Given the description of an element on the screen output the (x, y) to click on. 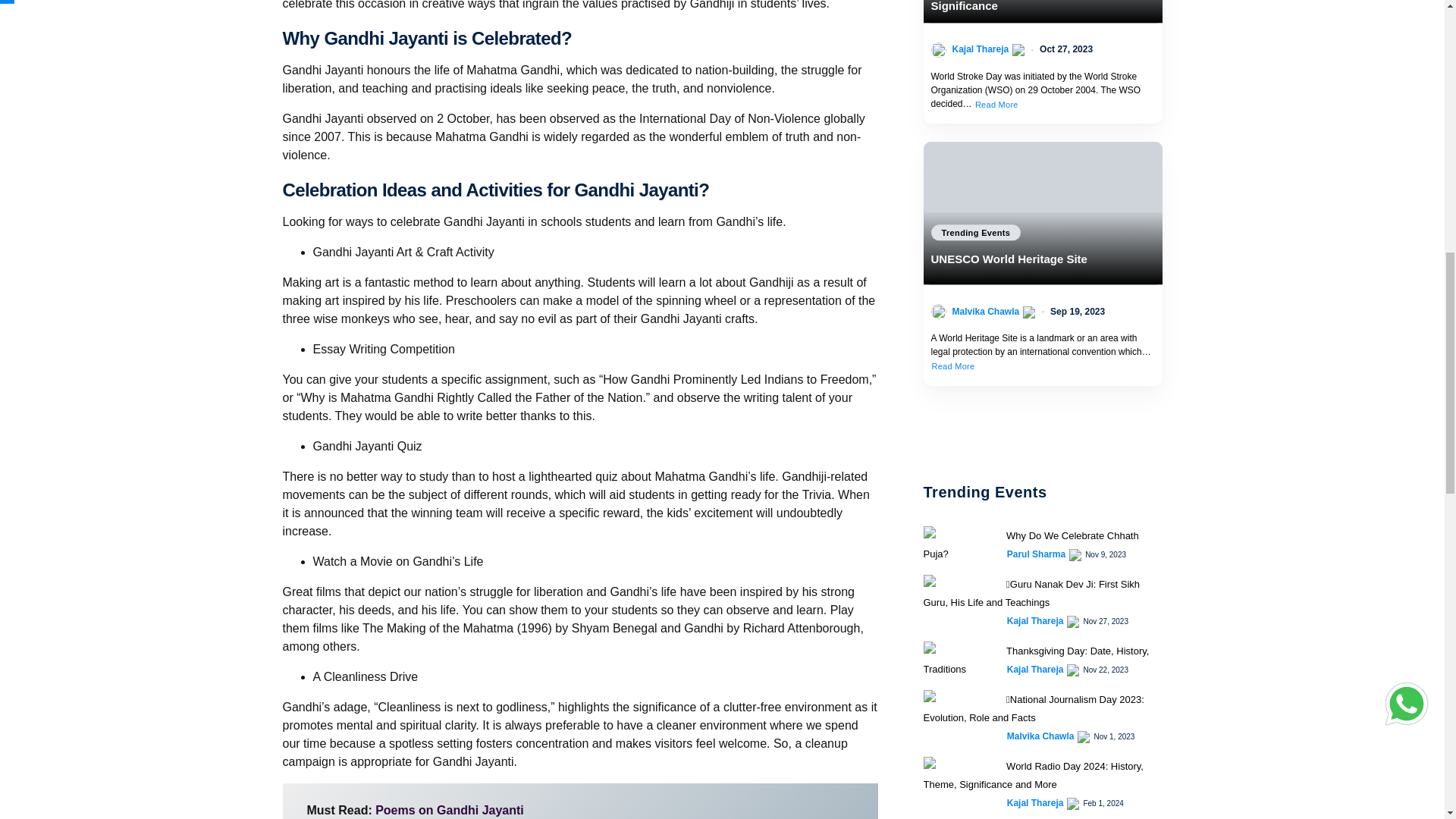
View all posts by Sanya Chhabra (984, 62)
View all posts by Kajal Thareja (1035, 567)
View all posts by Kajal Thareja (1035, 731)
View all posts by Kajal Thareja (1035, 634)
View all posts by Parul Sharma (1036, 683)
View all posts by Parul Sharma (1036, 798)
View all posts by Malvika Chawla (986, 325)
